Given the description of an element on the screen output the (x, y) to click on. 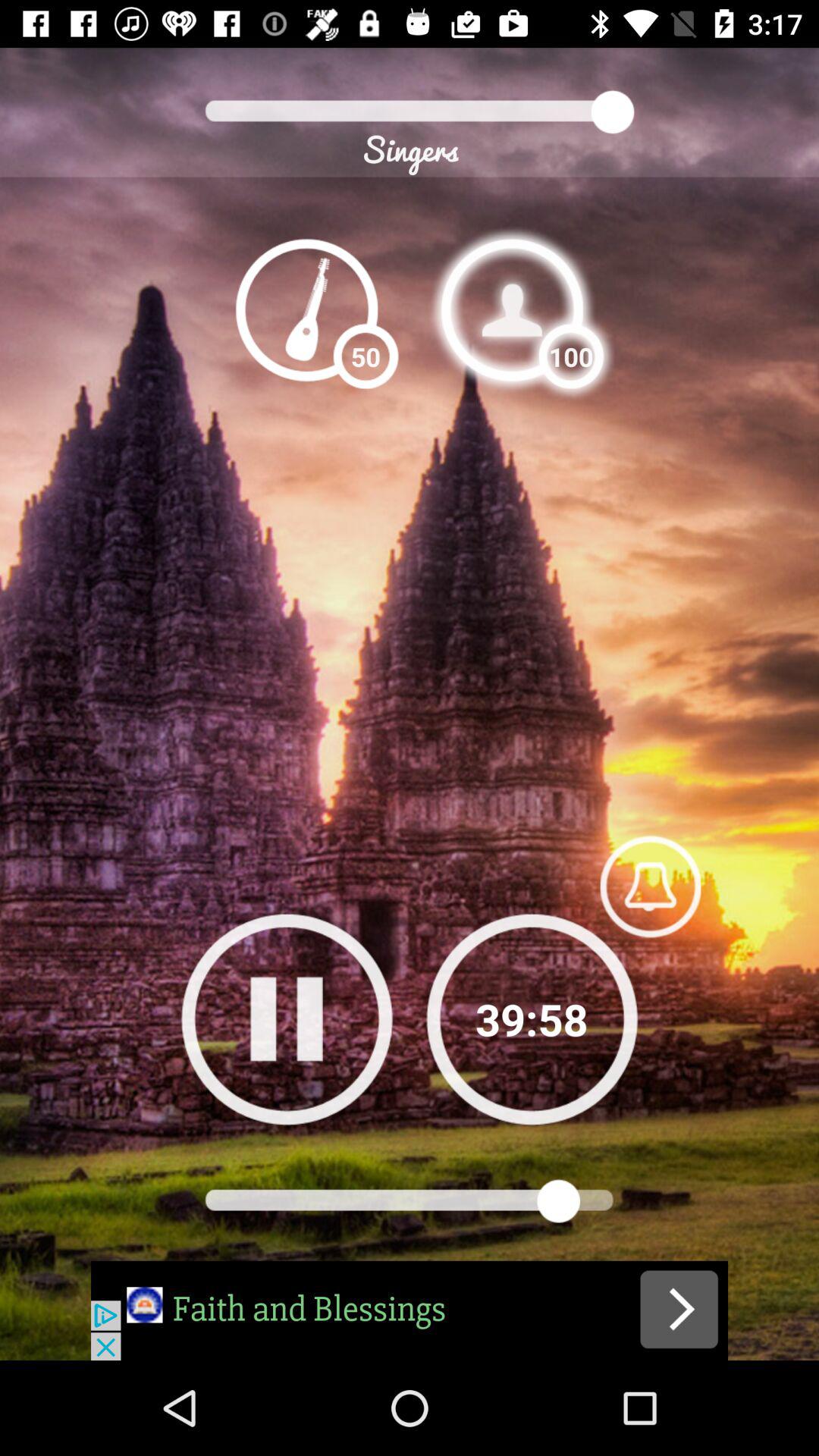
change the current time (531, 1018)
